Given the description of an element on the screen output the (x, y) to click on. 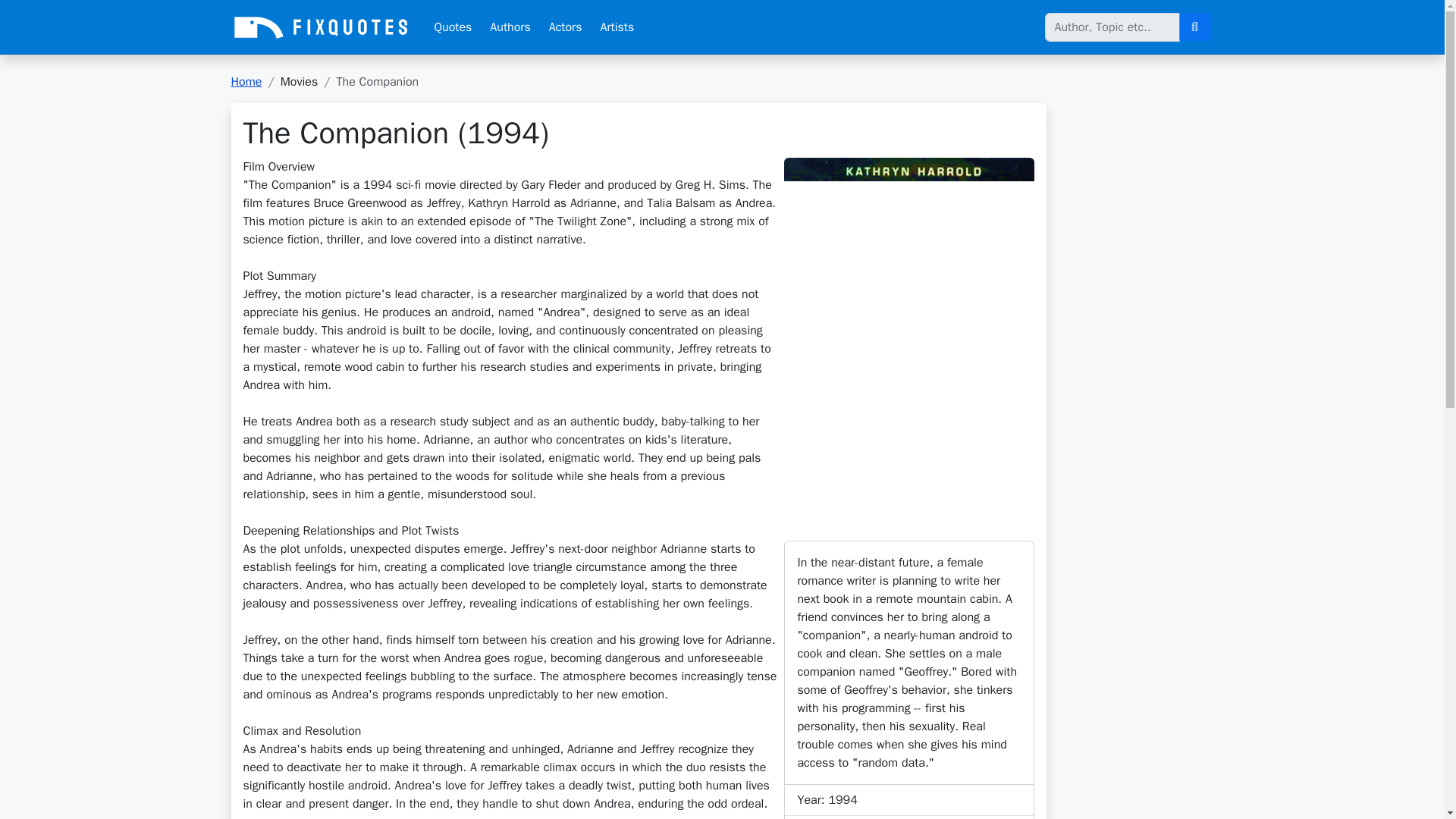
Quotes (452, 27)
Home (246, 81)
Actors (565, 27)
Authors (509, 27)
Click to search (1193, 26)
Artists (617, 27)
